Given the description of an element on the screen output the (x, y) to click on. 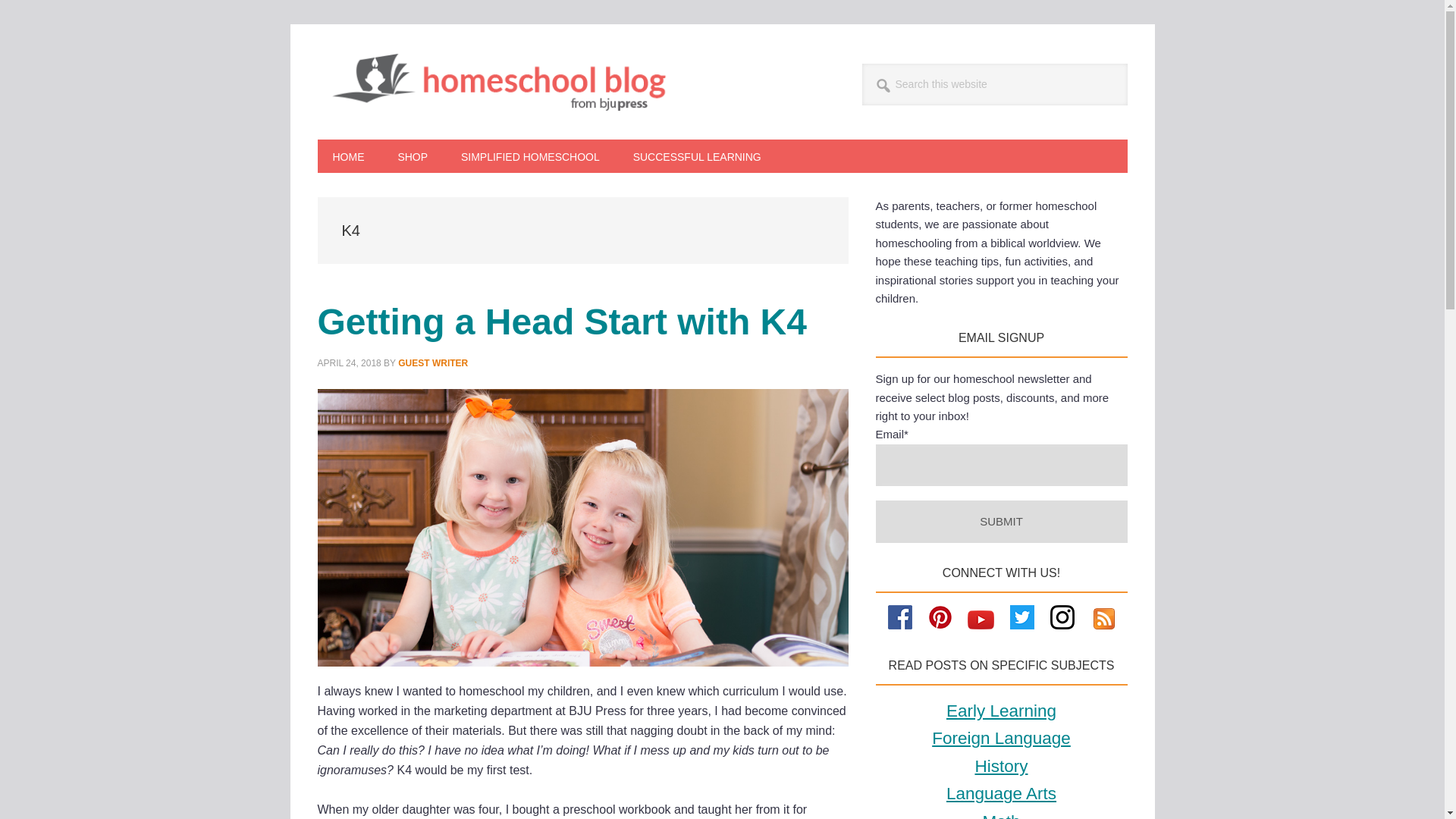
like us on Facebook (900, 625)
SHOP (411, 155)
History (1000, 765)
Foreign Language (1000, 737)
subscribe on YouTube (981, 625)
subscribe to our feed (1104, 625)
Math (1000, 815)
GUEST WRITER (432, 362)
BJU PRESS BLOG (511, 81)
